Given the description of an element on the screen output the (x, y) to click on. 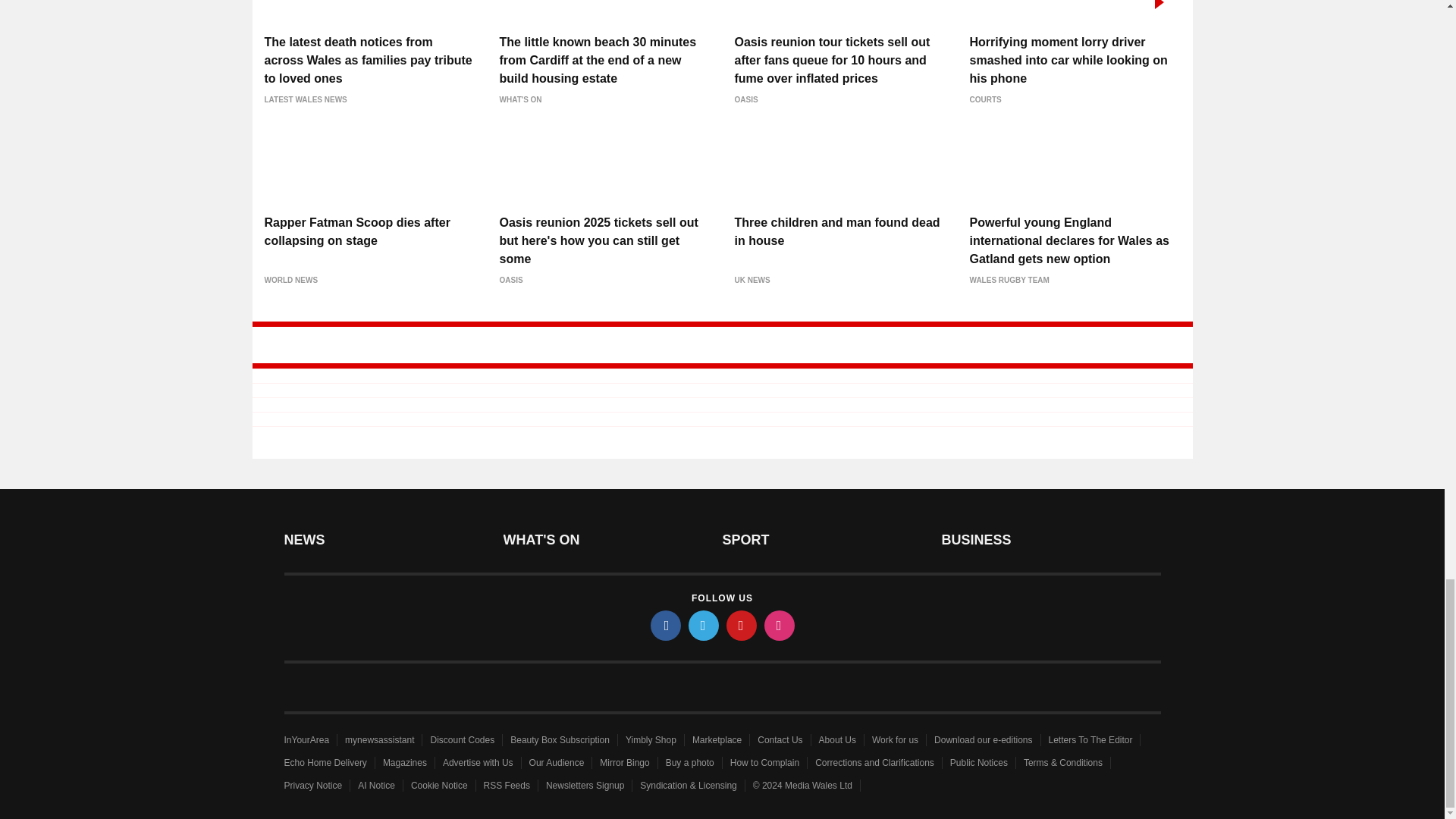
facebook (665, 625)
instagram (779, 625)
pinterest (741, 625)
twitter (703, 625)
